Given the description of an element on the screen output the (x, y) to click on. 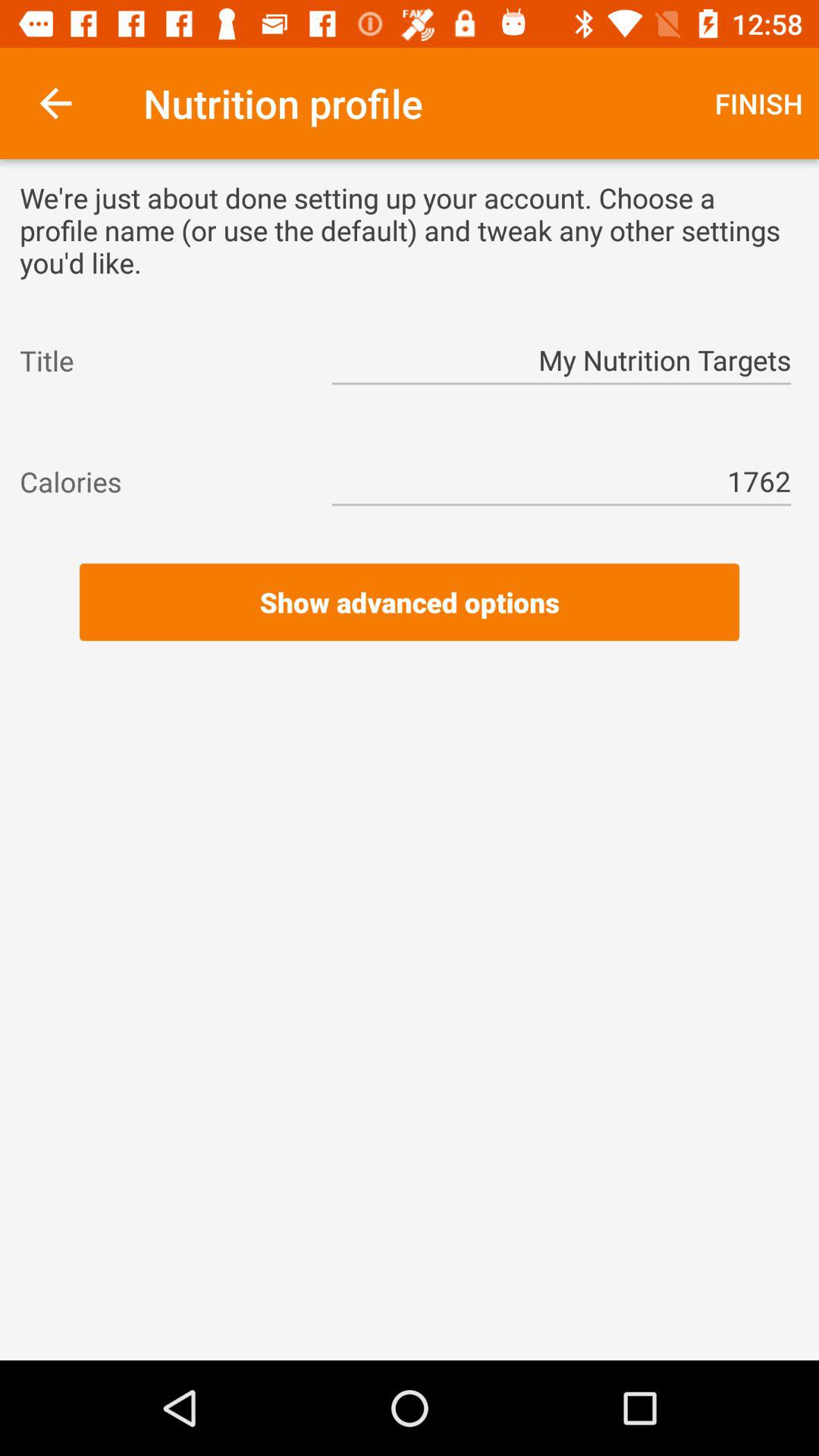
press icon next to my nutrition targets icon (161, 360)
